Given the description of an element on the screen output the (x, y) to click on. 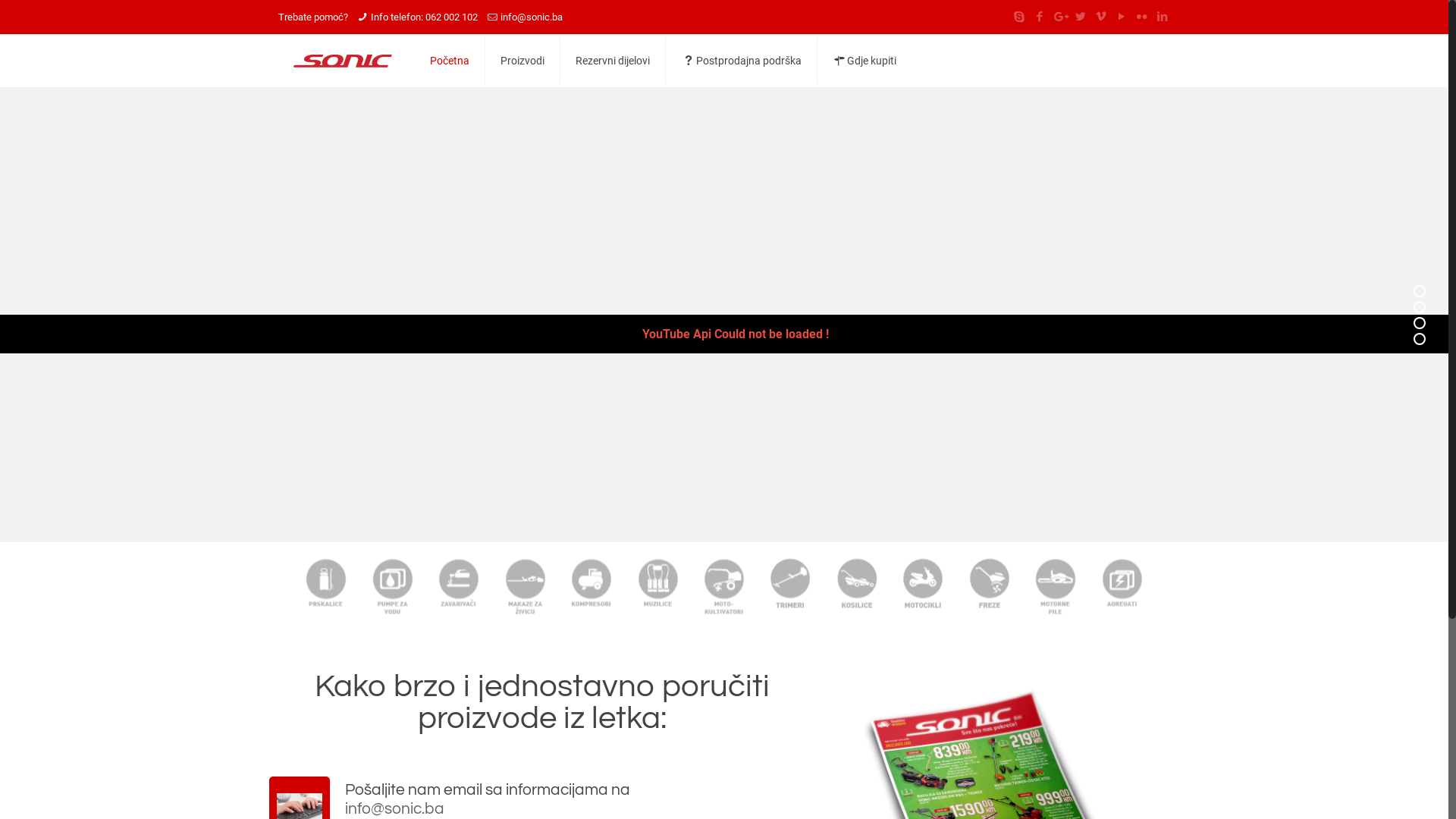
Trimeri Element type: hover (790, 585)
Kosilice Element type: hover (856, 585)
info@sonic.ba Element type: text (580, 808)
Sonic Element type: hover (342, 60)
LinkedIn Element type: hover (1162, 16)
Facebook Element type: hover (1039, 16)
Freze Element type: hover (989, 585)
Vimeo Element type: hover (1100, 16)
Motocikli Element type: hover (923, 585)
YouTube Element type: hover (1121, 16)
Rezervni dijelovi Element type: text (612, 60)
Google+ Element type: hover (1059, 16)
Skype Element type: hover (1018, 16)
Gdje kupiti Element type: text (864, 60)
Agregati Element type: hover (1121, 585)
Proizvodi Element type: text (522, 60)
Info telefon: 062 002 102 Element type: text (423, 16)
Twitter Element type: hover (1080, 16)
Motorne pile Element type: hover (1055, 585)
info@sonic.ba Element type: text (531, 16)
Flickr Element type: hover (1141, 16)
